Given the description of an element on the screen output the (x, y) to click on. 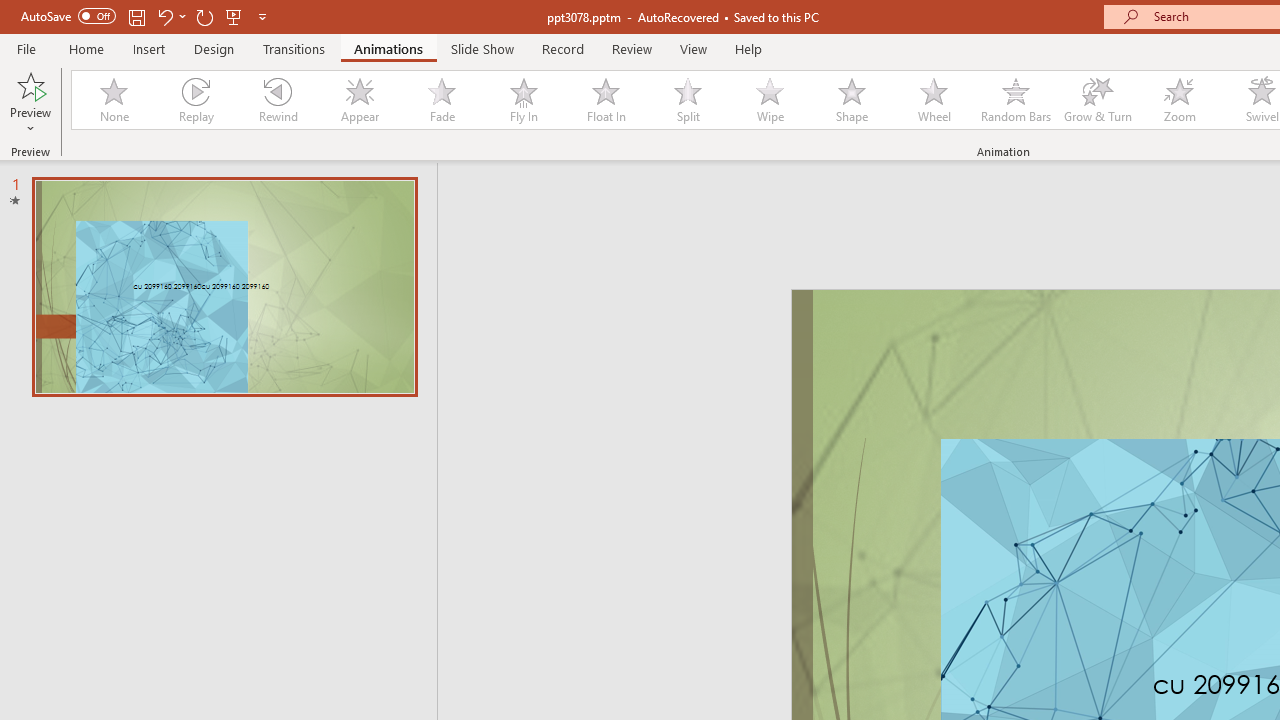
Split (687, 100)
Float In (605, 100)
Rewind (277, 100)
Appear (359, 100)
Random Bars (1016, 100)
